Given the description of an element on the screen output the (x, y) to click on. 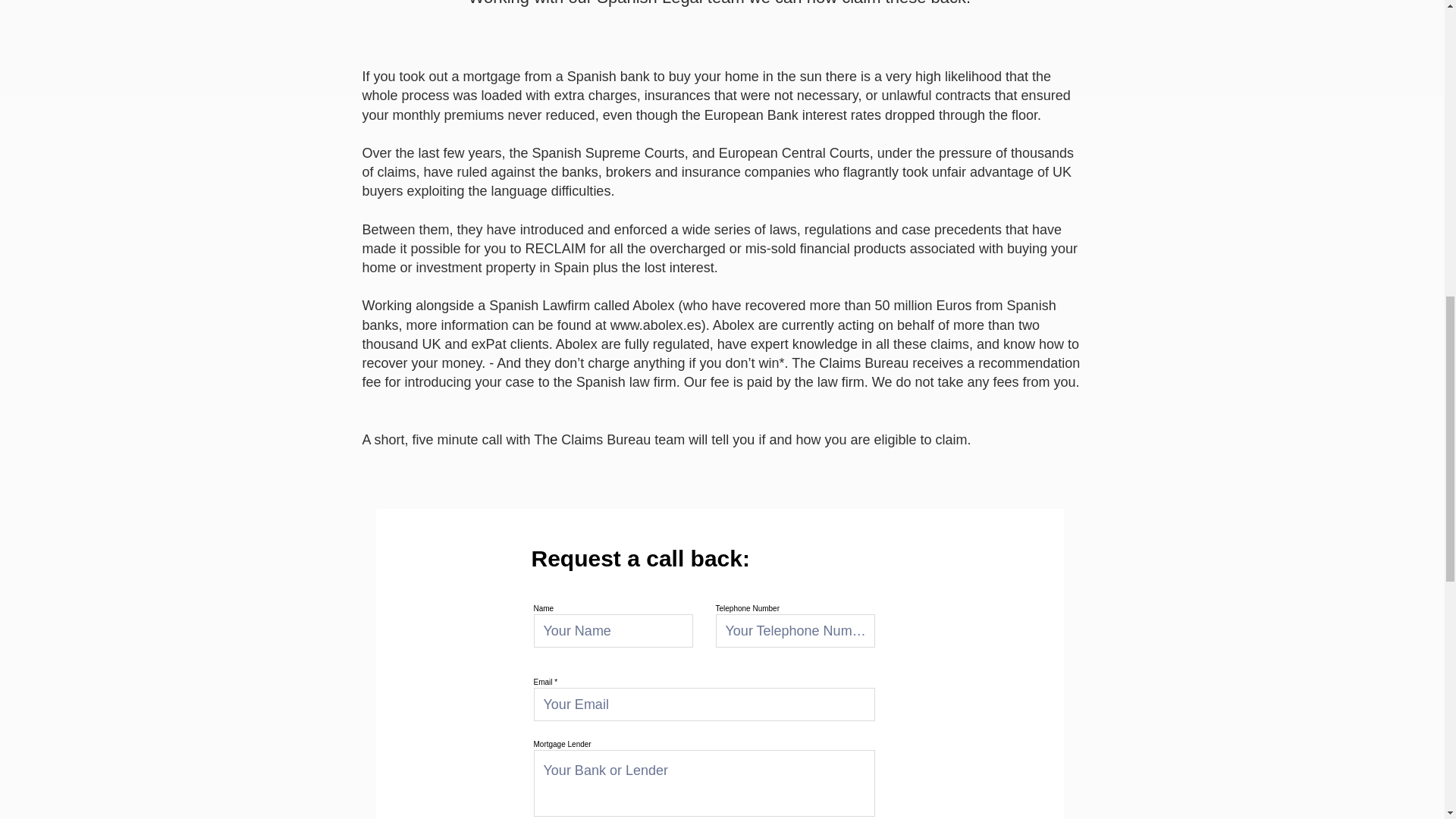
www.abolex.es (655, 324)
Twitter Tweet (1059, 127)
